Given the description of an element on the screen output the (x, y) to click on. 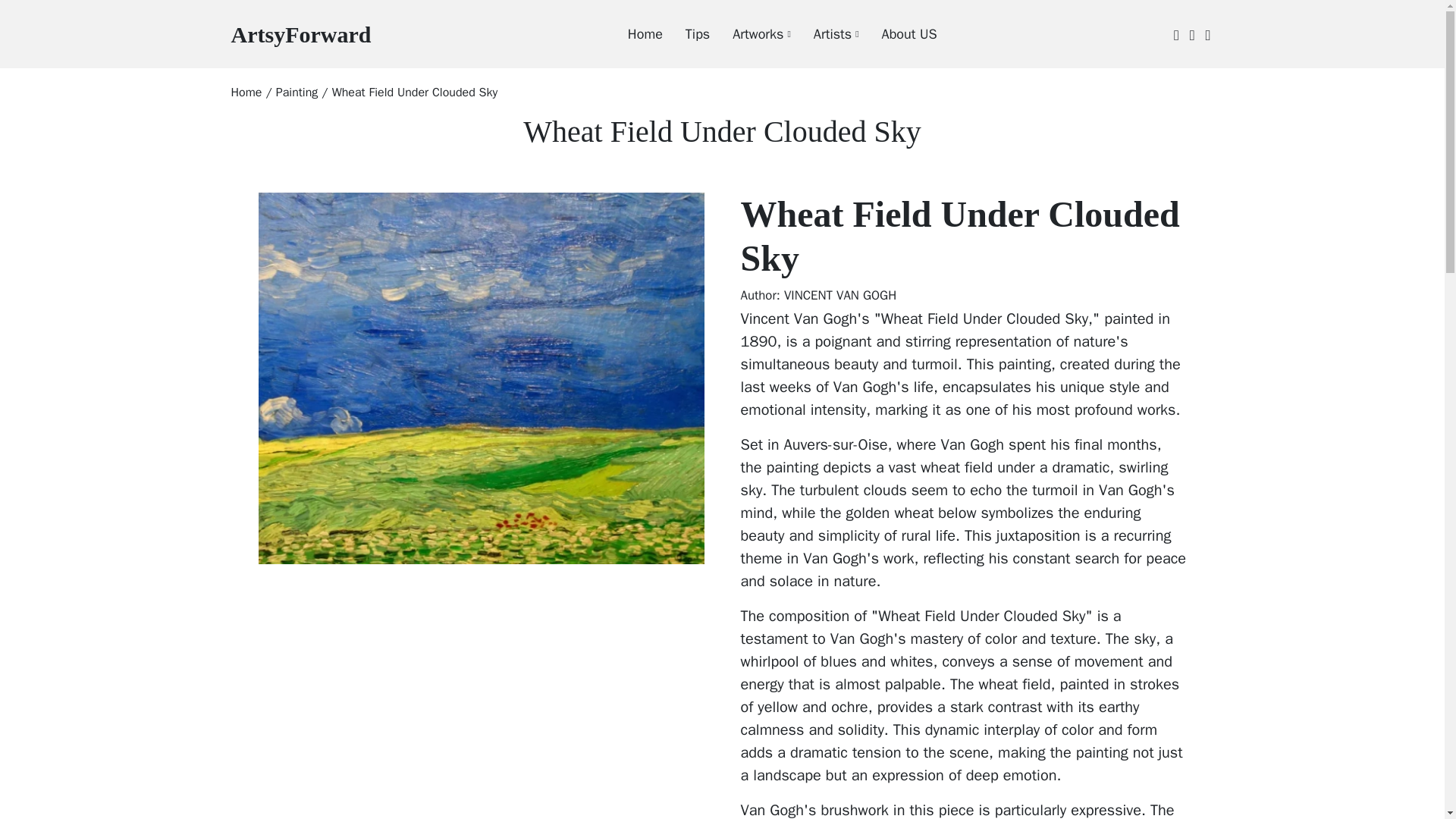
VINCENT VAN GOGH (840, 295)
Tips (686, 34)
Artworks (750, 34)
Home (633, 34)
Home (246, 92)
home (246, 92)
Painting (300, 33)
Artists (297, 92)
About US (824, 34)
